Given the description of an element on the screen output the (x, y) to click on. 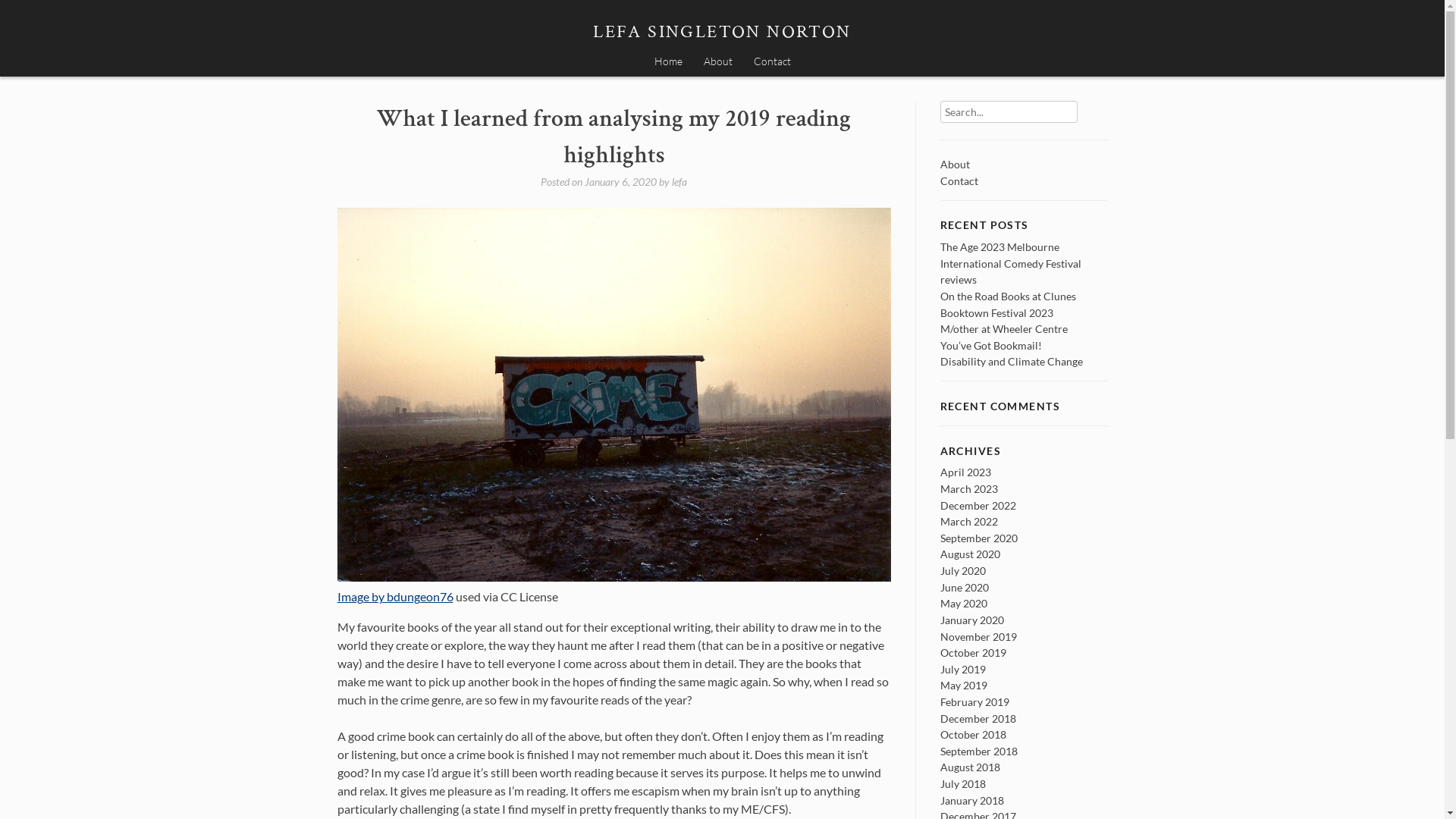
LEFA SINGLETON NORTON Element type: text (721, 31)
Search Element type: text (1086, 105)
About Element type: text (954, 163)
February 2019 Element type: text (974, 701)
September 2018 Element type: text (978, 750)
December 2022 Element type: text (978, 504)
August 2018 Element type: text (970, 766)
January 6, 2020 Element type: text (620, 181)
January 2020 Element type: text (972, 619)
About Element type: text (718, 61)
December 2018 Element type: text (978, 718)
May 2019 Element type: text (963, 684)
April 2023 Element type: text (965, 471)
Contact Element type: text (772, 61)
Home Element type: text (667, 61)
The Age 2023 Melbourne International Comedy Festival reviews Element type: text (1010, 262)
July 2020 Element type: text (962, 570)
October 2018 Element type: text (973, 734)
March 2022 Element type: text (968, 520)
Image by bdungeon76 Element type: text (394, 596)
On the Road Books at Clunes Booktown Festival 2023 Element type: text (1008, 304)
November 2019 Element type: text (978, 636)
M/other at Wheeler Centre Element type: text (1003, 328)
September 2020 Element type: text (978, 537)
Contact Element type: text (959, 180)
October 2019 Element type: text (973, 652)
June 2020 Element type: text (964, 586)
March 2023 Element type: text (968, 488)
July 2019 Element type: text (962, 668)
Search for: Element type: hover (1008, 111)
May 2020 Element type: text (963, 602)
lefa Element type: text (679, 181)
Disability and Climate Change Element type: text (1011, 360)
July 2018 Element type: text (962, 783)
January 2018 Element type: text (972, 799)
August 2020 Element type: text (970, 553)
